Given the description of an element on the screen output the (x, y) to click on. 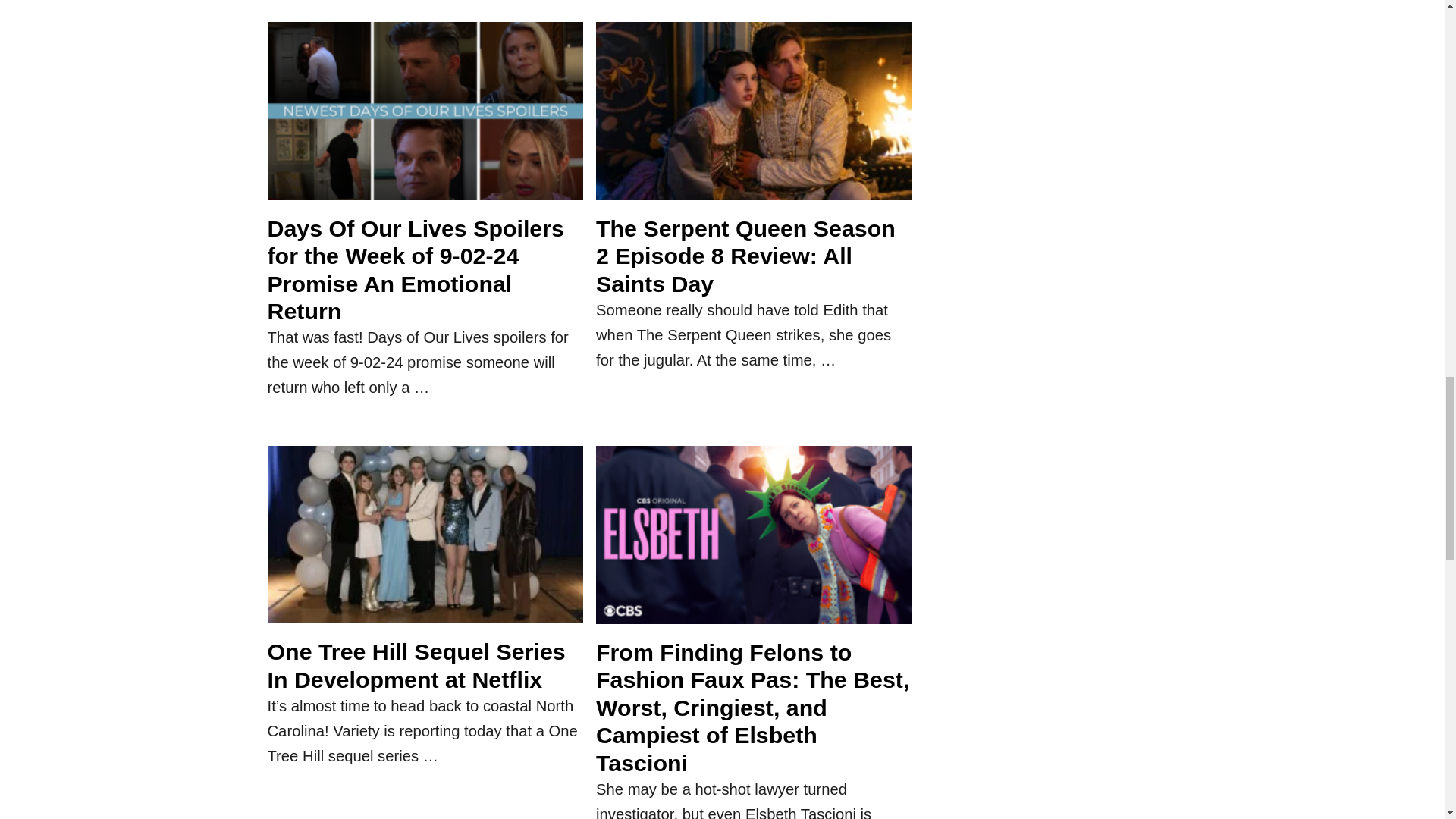
One Tree Hill Sequel Series In Development at Netflix (424, 541)
The Serpent Queen Season 2 Episode 8 Review: All Saints Day (753, 118)
